Given the description of an element on the screen output the (x, y) to click on. 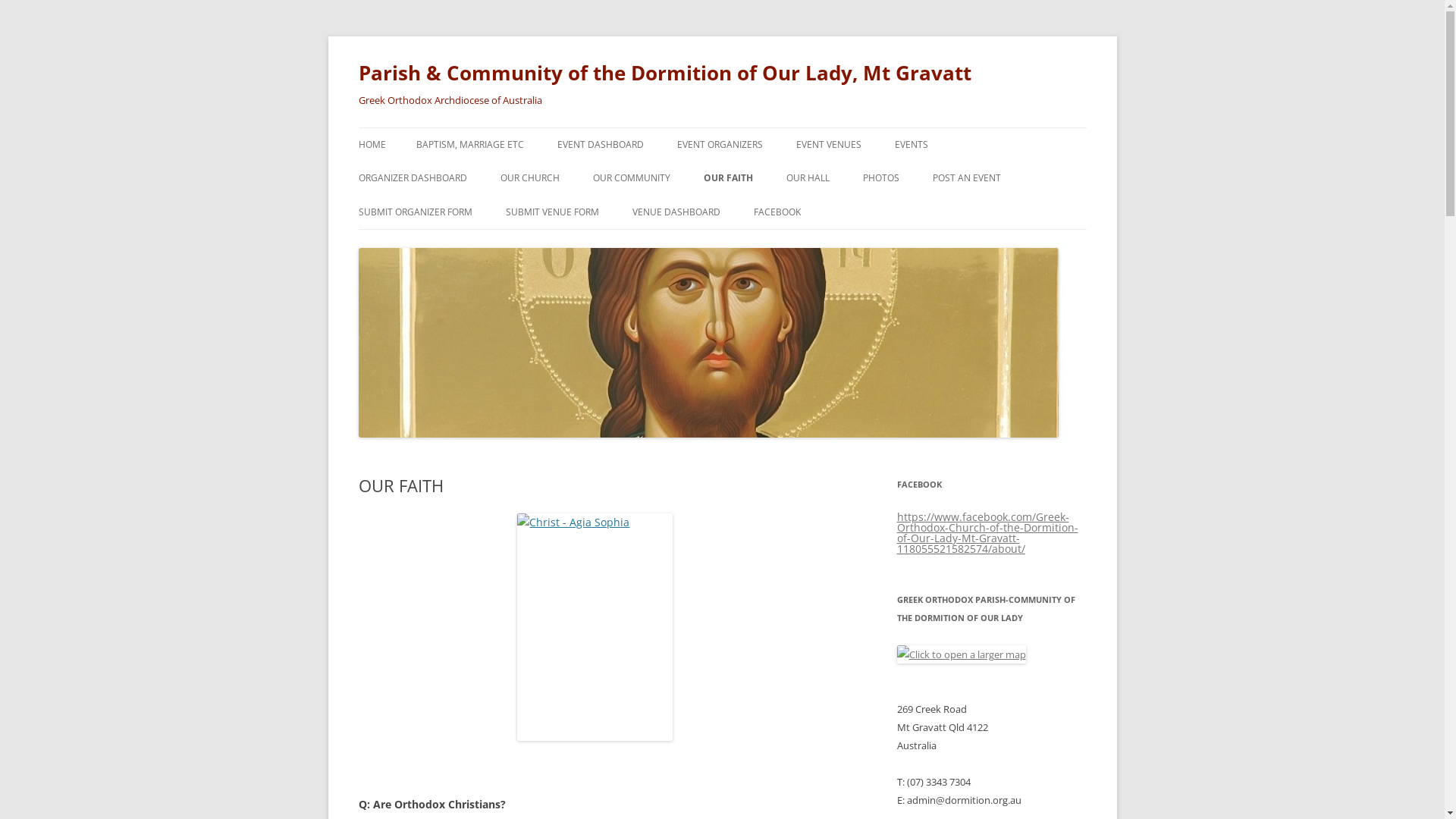
EVENTS Element type: text (911, 144)
Parish & Community of the Dormition of Our Lady, Mt Gravatt Element type: text (663, 72)
EVENT VENUES Element type: text (828, 144)
FACEBOOK Element type: text (776, 212)
EVENT ORGANIZERS Element type: text (719, 144)
SUBMIT VENUE FORM Element type: text (551, 212)
SUBMIT ORGANIZER FORM Element type: text (414, 212)
BAPTISM, MARRIAGE ETC Element type: text (469, 144)
EVENT DASHBOARD Element type: text (599, 144)
OUR COMMUNITY Element type: text (631, 177)
Click to open a larger map Element type: hover (960, 654)
PHOTOS Element type: text (880, 177)
Skip to content Element type: text (721, 127)
POST AN EVENT Element type: text (966, 177)
HOME Element type: text (371, 144)
OUR FAITH Element type: text (728, 177)
VENUE DASHBOARD Element type: text (676, 212)
OUR HALL Element type: text (806, 177)
OUR CHURCH Element type: text (529, 177)
ORGANIZER DASHBOARD Element type: text (411, 177)
